Given the description of an element on the screen output the (x, y) to click on. 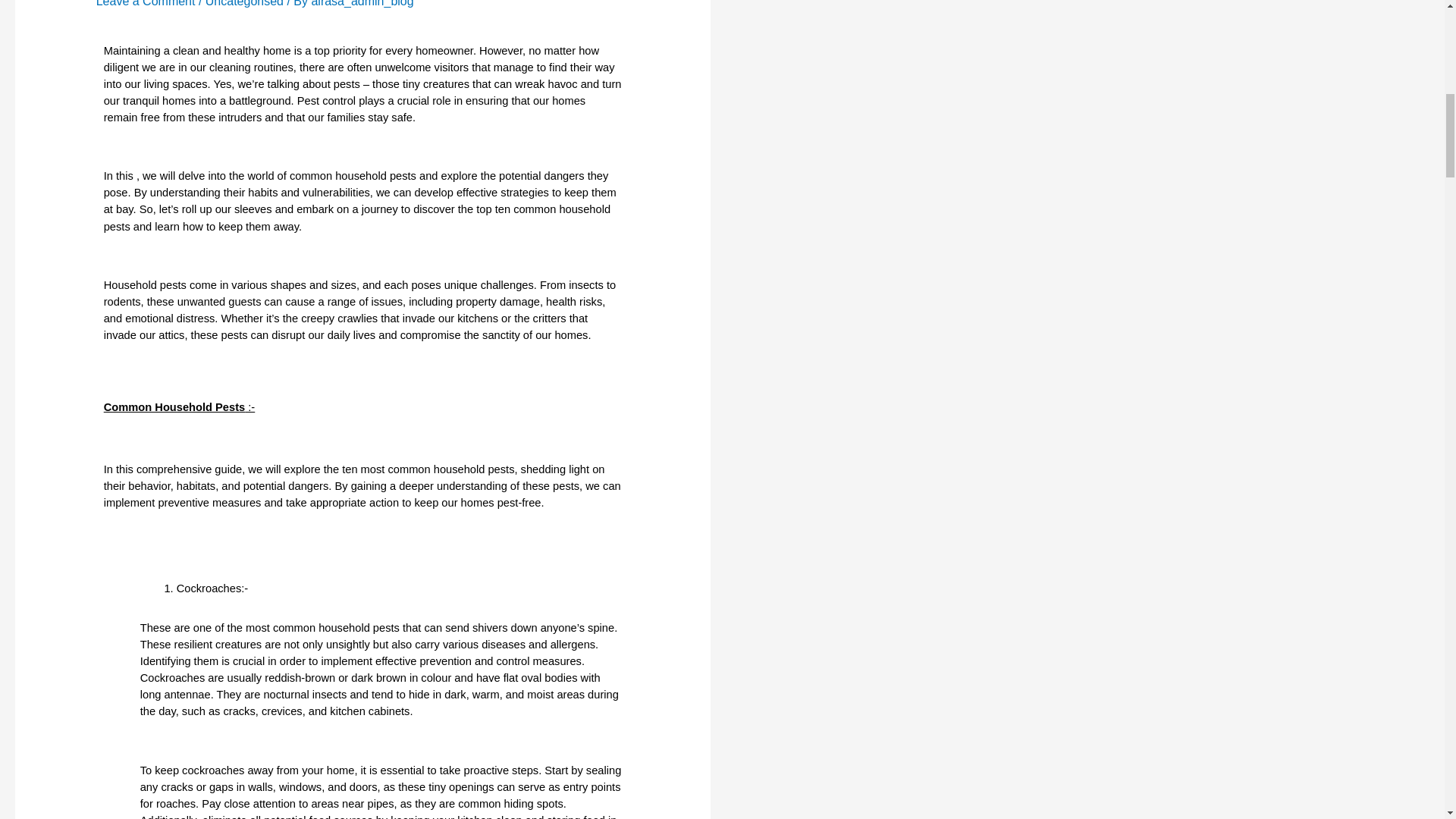
Uncategorised (244, 3)
Leave a Comment (145, 3)
